Given the description of an element on the screen output the (x, y) to click on. 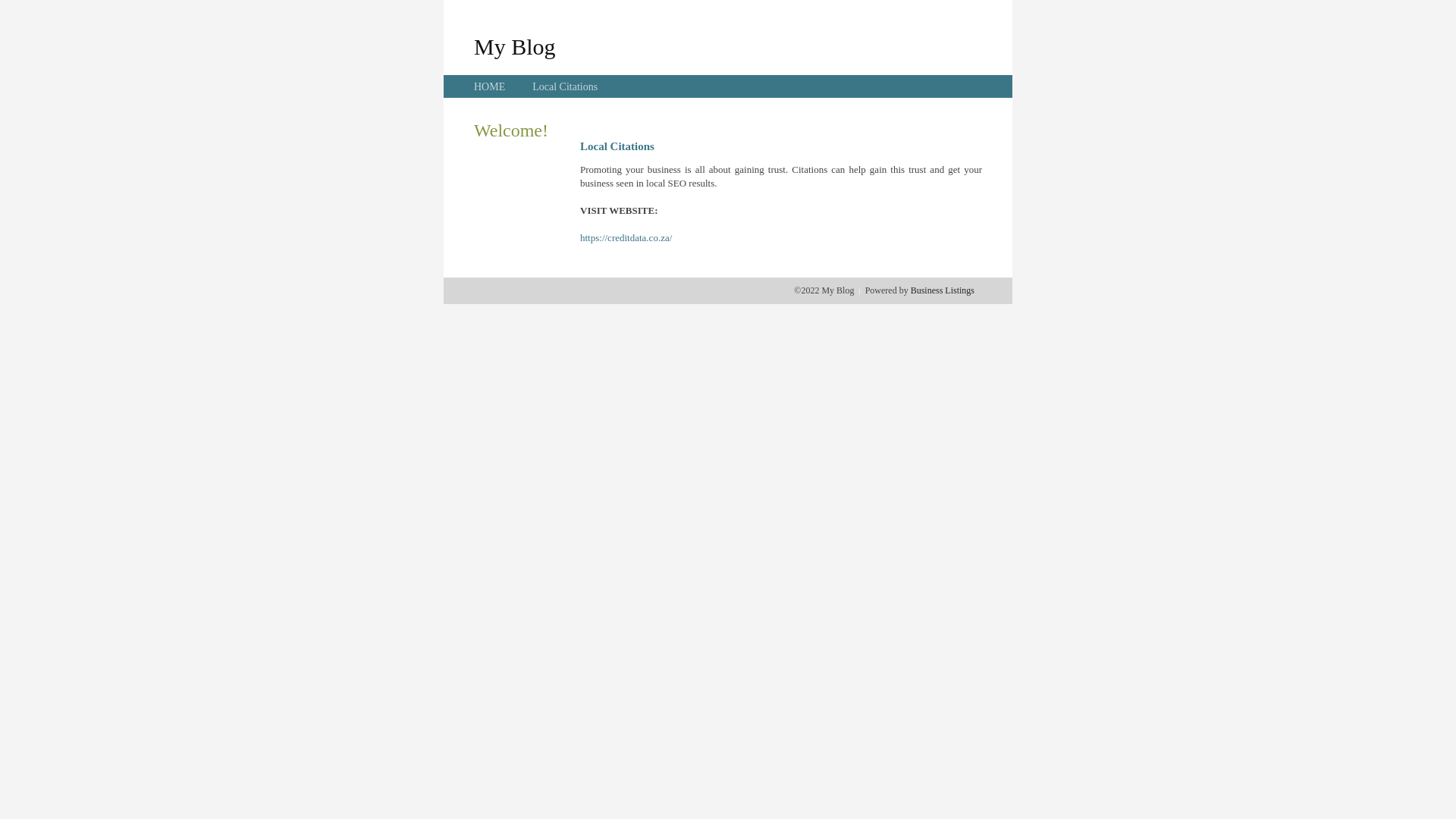
HOME Element type: text (489, 86)
Business Listings Element type: text (942, 290)
https://creditdata.co.za/ Element type: text (625, 237)
My Blog Element type: text (514, 46)
Local Citations Element type: text (564, 86)
